Given the description of an element on the screen output the (x, y) to click on. 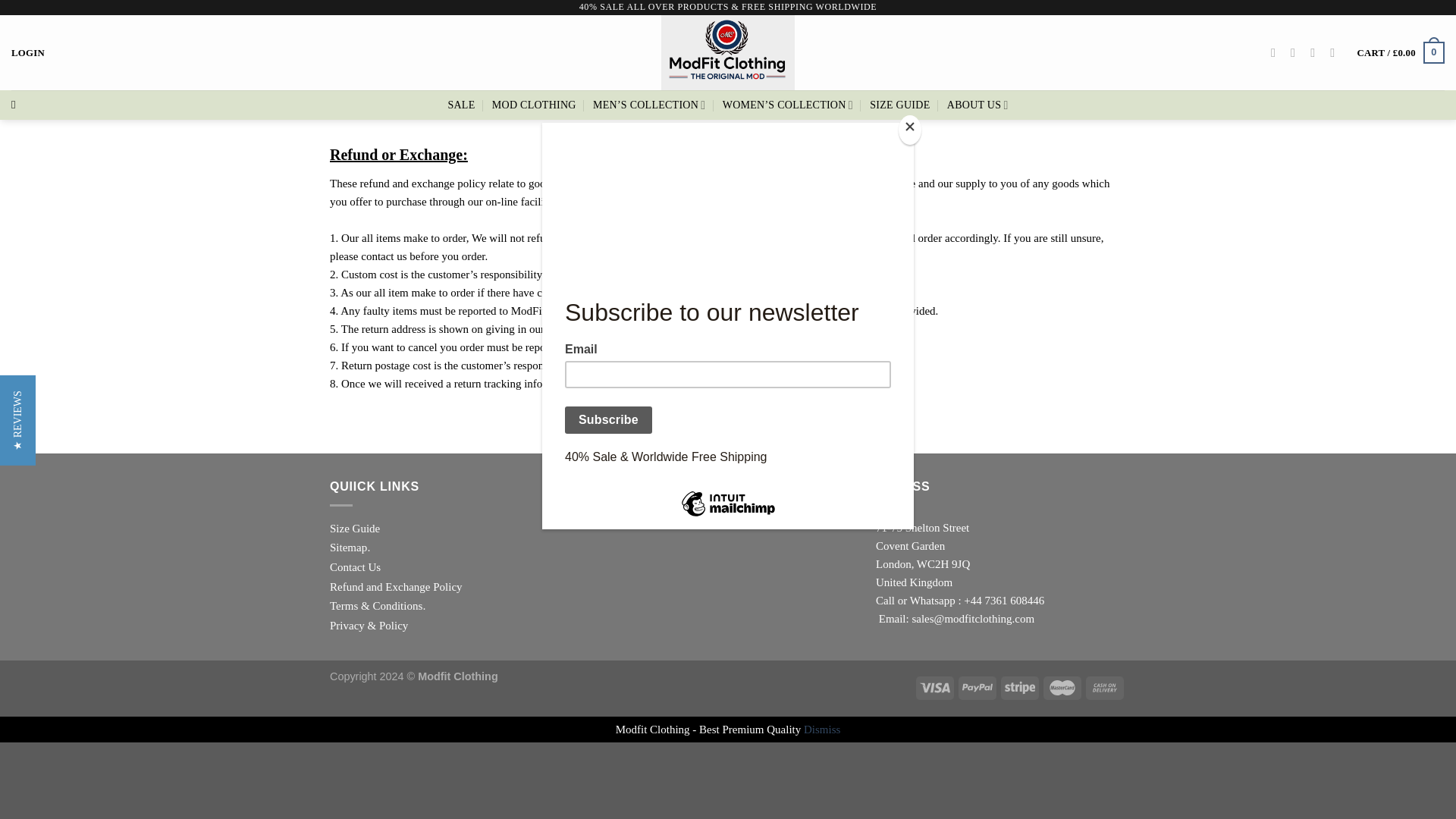
SALE (460, 104)
LOGIN (28, 52)
MOD CLOTHING (534, 104)
Cart (1400, 52)
